Given the description of an element on the screen output the (x, y) to click on. 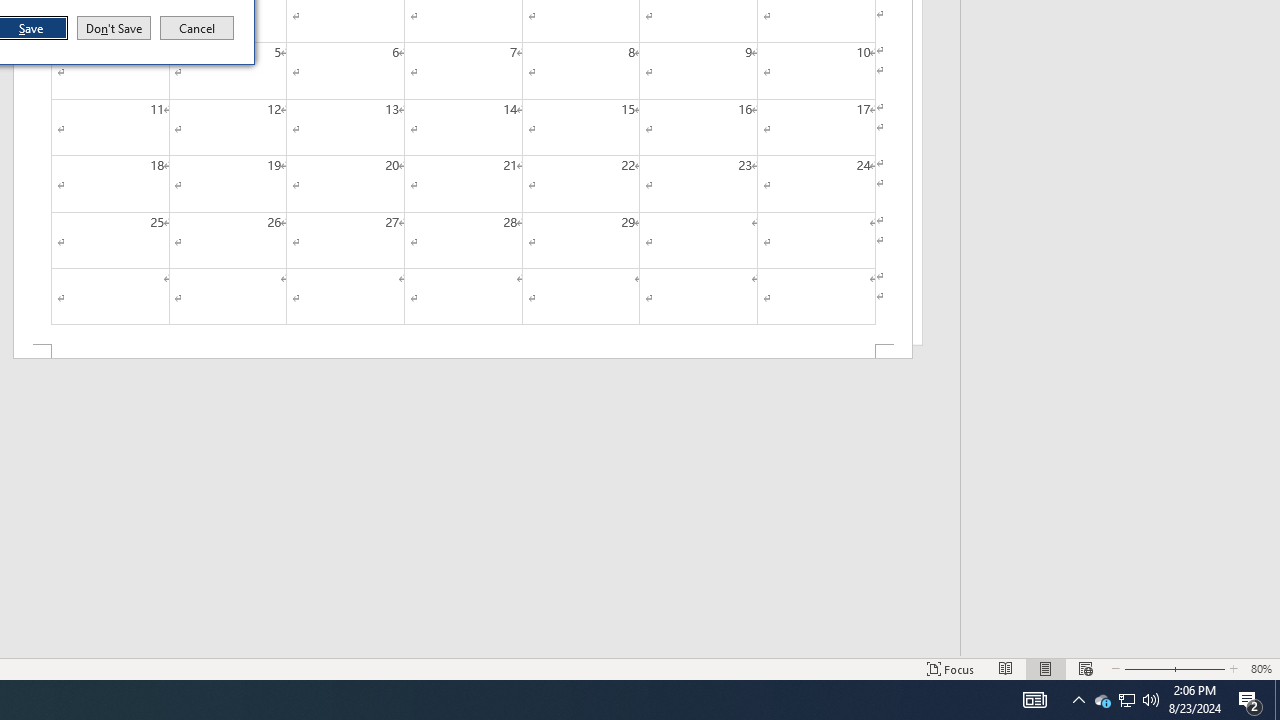
AutomationID: 4105 (1034, 699)
Show desktop (1277, 699)
Don't Save (113, 27)
Notification Chevron (1078, 699)
Footer -Section 2- (462, 351)
Cancel (197, 27)
